Given the description of an element on the screen output the (x, y) to click on. 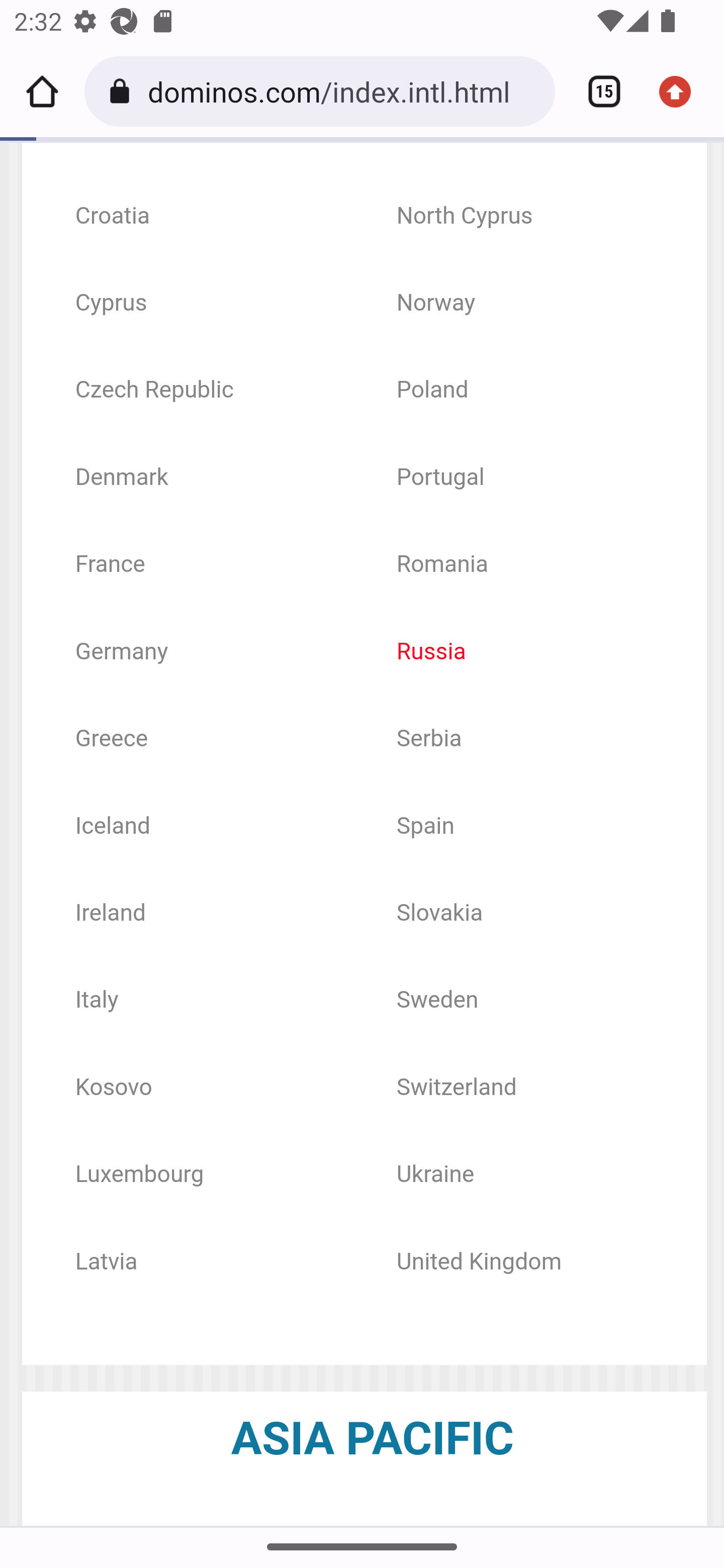
Home (42, 91)
Connection is secure (122, 91)
Switch or close tabs (597, 91)
Update available. More options (681, 91)
dominos.com/index.intl.html (343, 90)
Croatia (112, 216)
North Cyprus (464, 216)
Cyprus (110, 303)
Norway (436, 303)
Czech Republic (153, 391)
Poland (432, 391)
Denmark (120, 478)
Portugal (440, 478)
France (109, 565)
Romania (442, 565)
Germany (120, 652)
Russia (431, 652)
Greece (111, 739)
Serbia (429, 739)
Iceland (112, 826)
Spain (425, 826)
Ireland (109, 913)
Slovakia (439, 913)
Italy (96, 1000)
Sweden (437, 1000)
Kosovo (112, 1087)
Switzerland (456, 1087)
Luxembourg (139, 1175)
Ukraine (435, 1175)
Latvia (106, 1262)
United Kingdom (479, 1262)
